Given the description of an element on the screen output the (x, y) to click on. 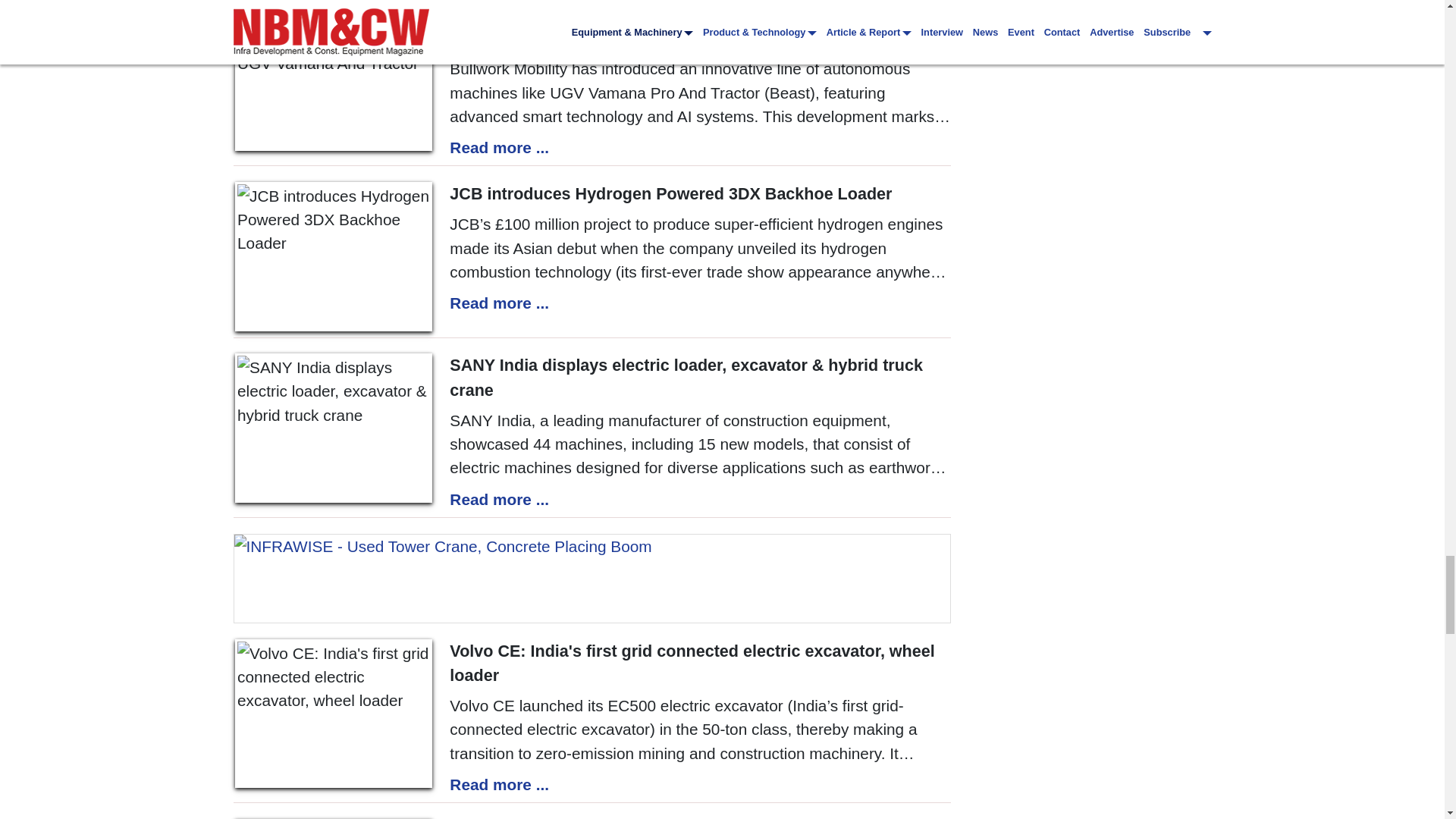
INFRAWISE - Used Tower Crane, Concrete Placing Boom (591, 578)
